Given the description of an element on the screen output the (x, y) to click on. 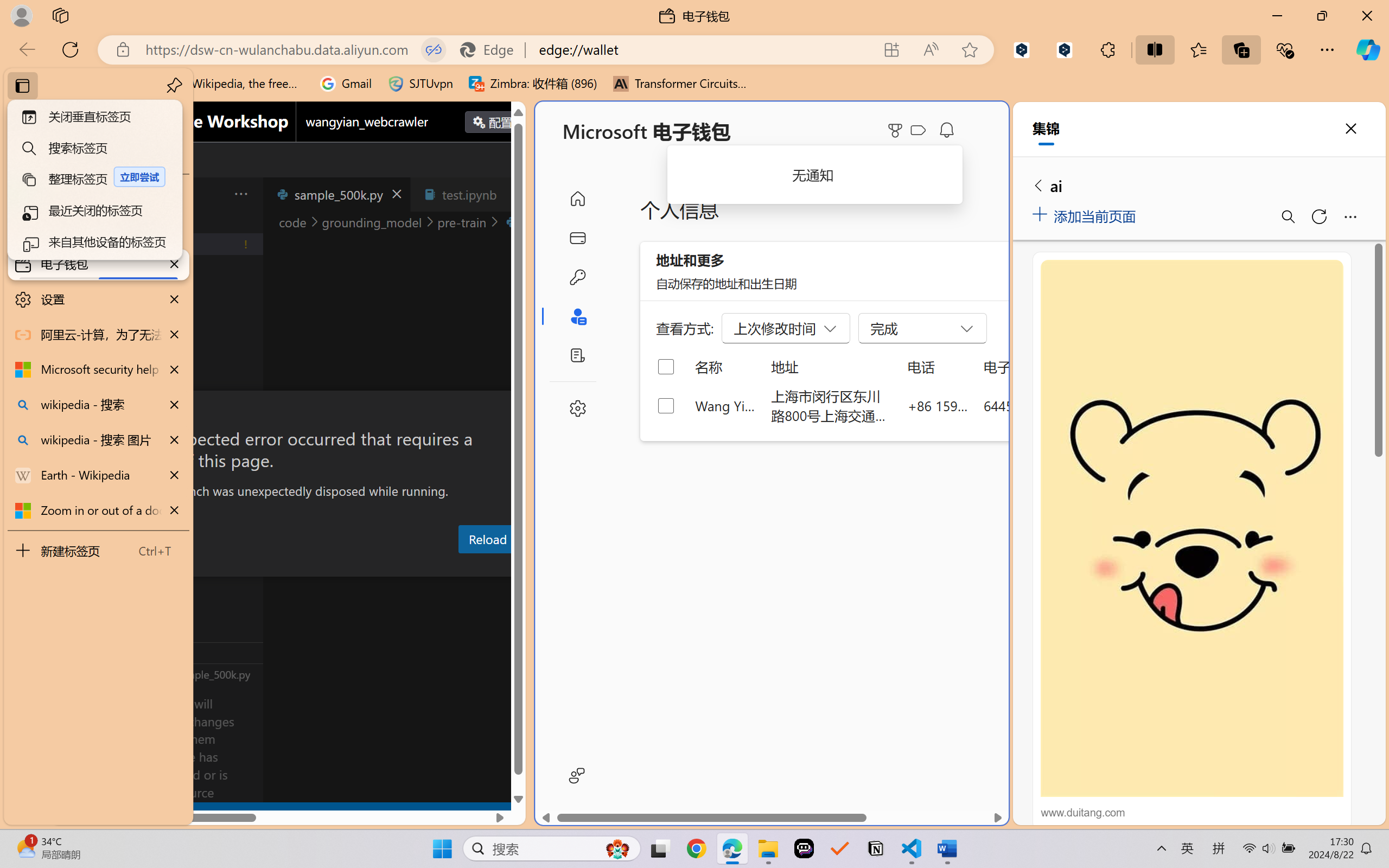
test.ipynb (468, 194)
